Given the description of an element on the screen output the (x, y) to click on. 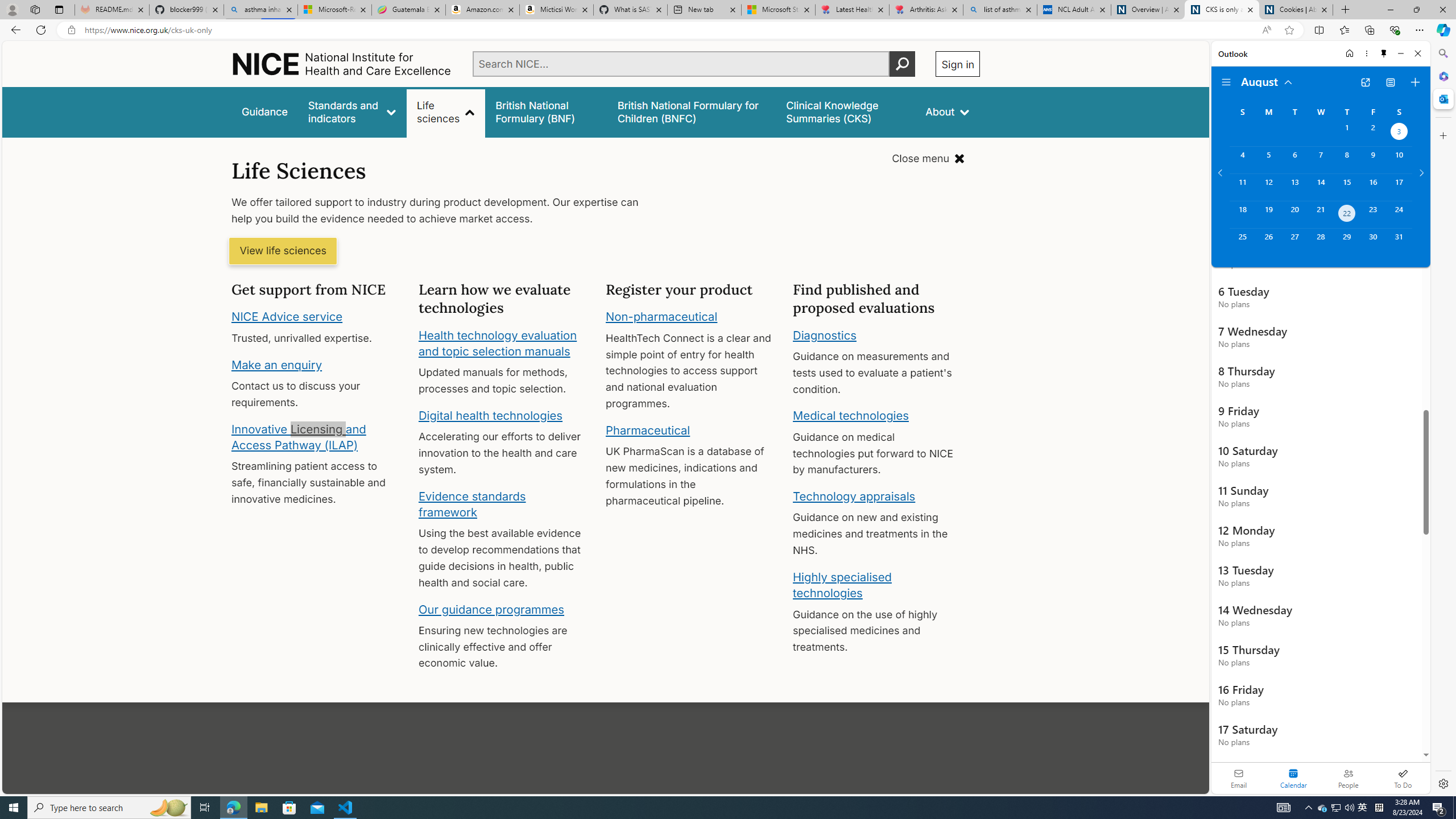
Wednesday, August 7, 2024.  (1320, 159)
Tuesday, August 20, 2024.  (1294, 214)
Sunday, August 4, 2024.  (1242, 159)
Monday, August 26, 2024.  (1268, 241)
Health technology evaluation and topic selection manuals (496, 342)
Life sciences (446, 111)
Saturday, August 3, 2024. Date selected.  (1399, 132)
Open in new tab (1365, 82)
